Given the description of an element on the screen output the (x, y) to click on. 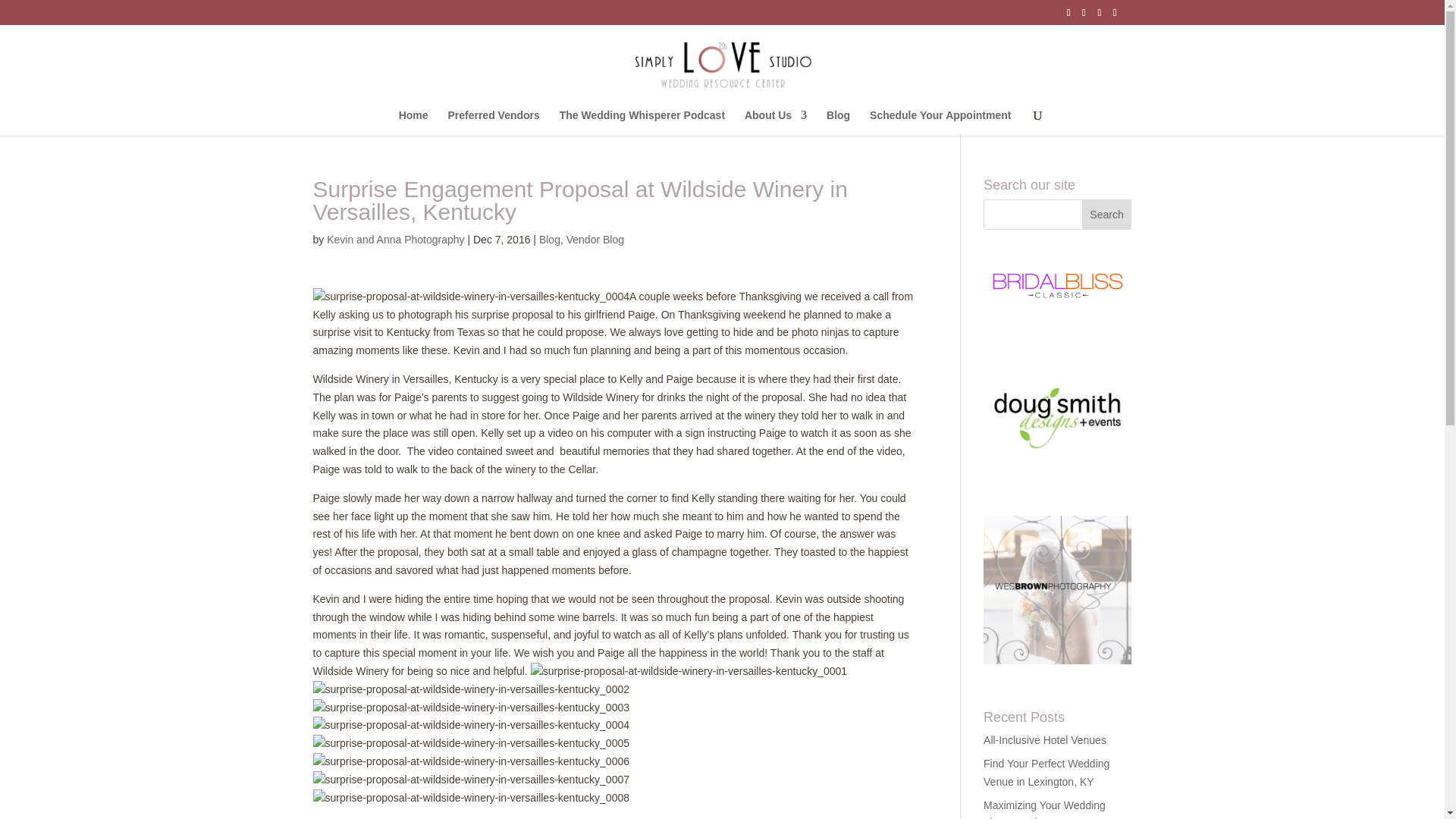
The Wedding Whisperer Podcast (642, 122)
Blog (838, 122)
Home (413, 122)
Preferred Vendors (492, 122)
Posts by Kevin and Anna Photography (395, 239)
Schedule Your Appointment (939, 122)
Find Your Perfect Wedding Venue in Lexington, KY (1046, 772)
About Us (775, 122)
Search (1106, 214)
Search (1106, 214)
